Given the description of an element on the screen output the (x, y) to click on. 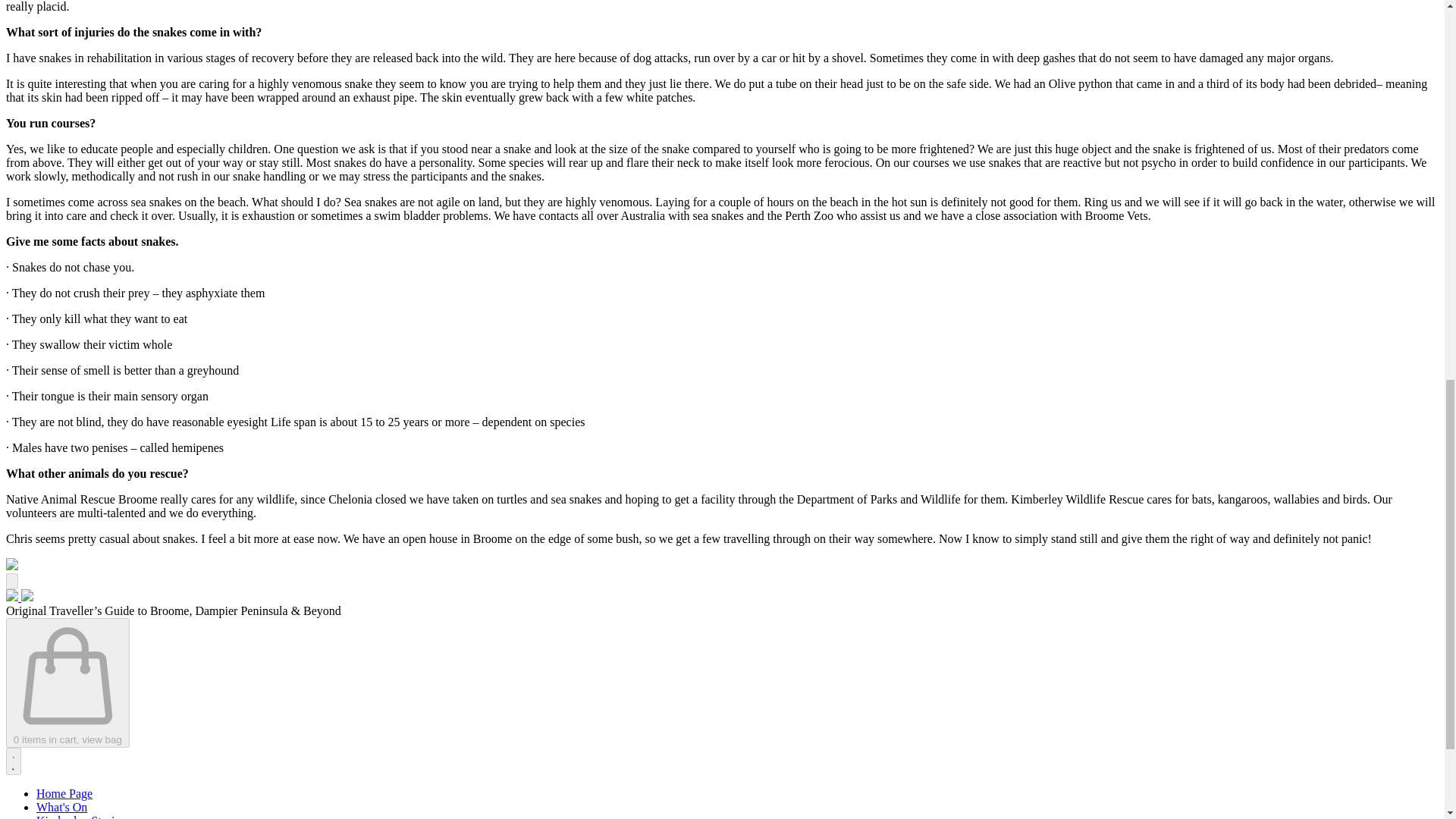
0 items in cart, view bag (67, 682)
Kimberley Stories (80, 816)
Home Page (64, 793)
What's On (61, 807)
